Given the description of an element on the screen output the (x, y) to click on. 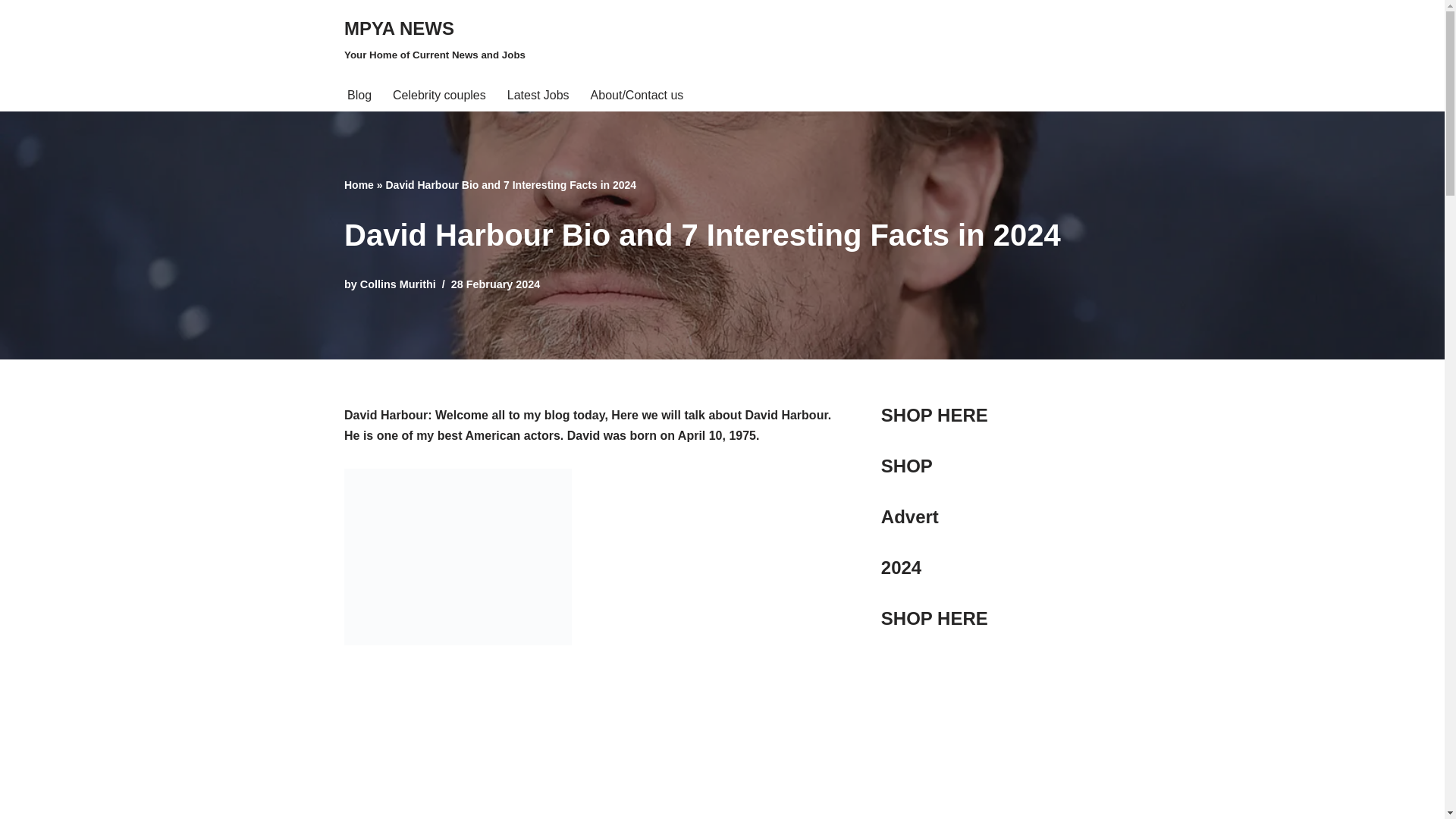
Blog (359, 95)
Latest Jobs (537, 95)
Skip to content (11, 31)
Collins Murithi (397, 284)
Home (358, 184)
Posts by Collins Murithi (397, 284)
Celebrity couples (434, 39)
